Given the description of an element on the screen output the (x, y) to click on. 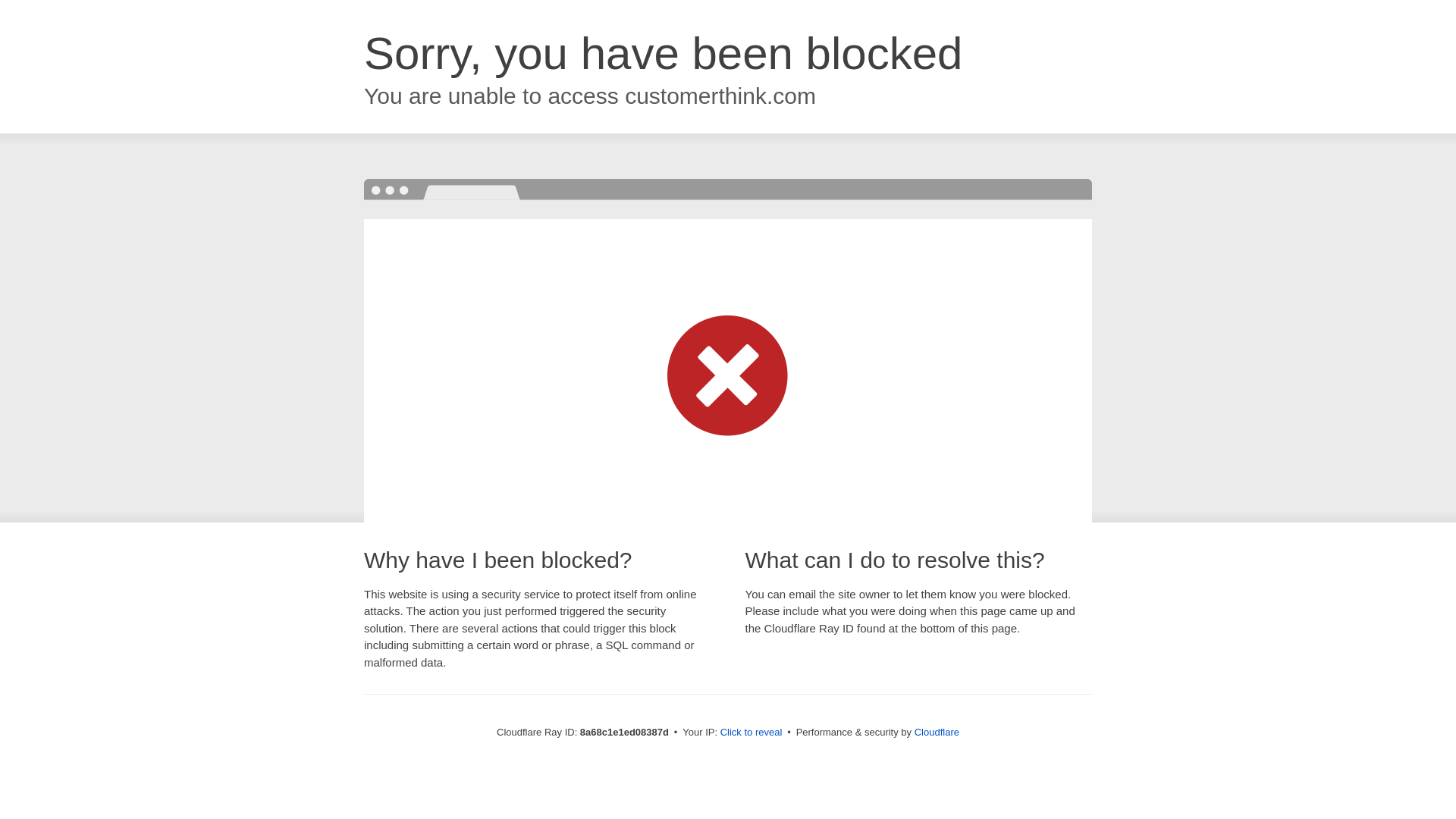
Cloudflare (936, 731)
Click to reveal (751, 732)
